Given the description of an element on the screen output the (x, y) to click on. 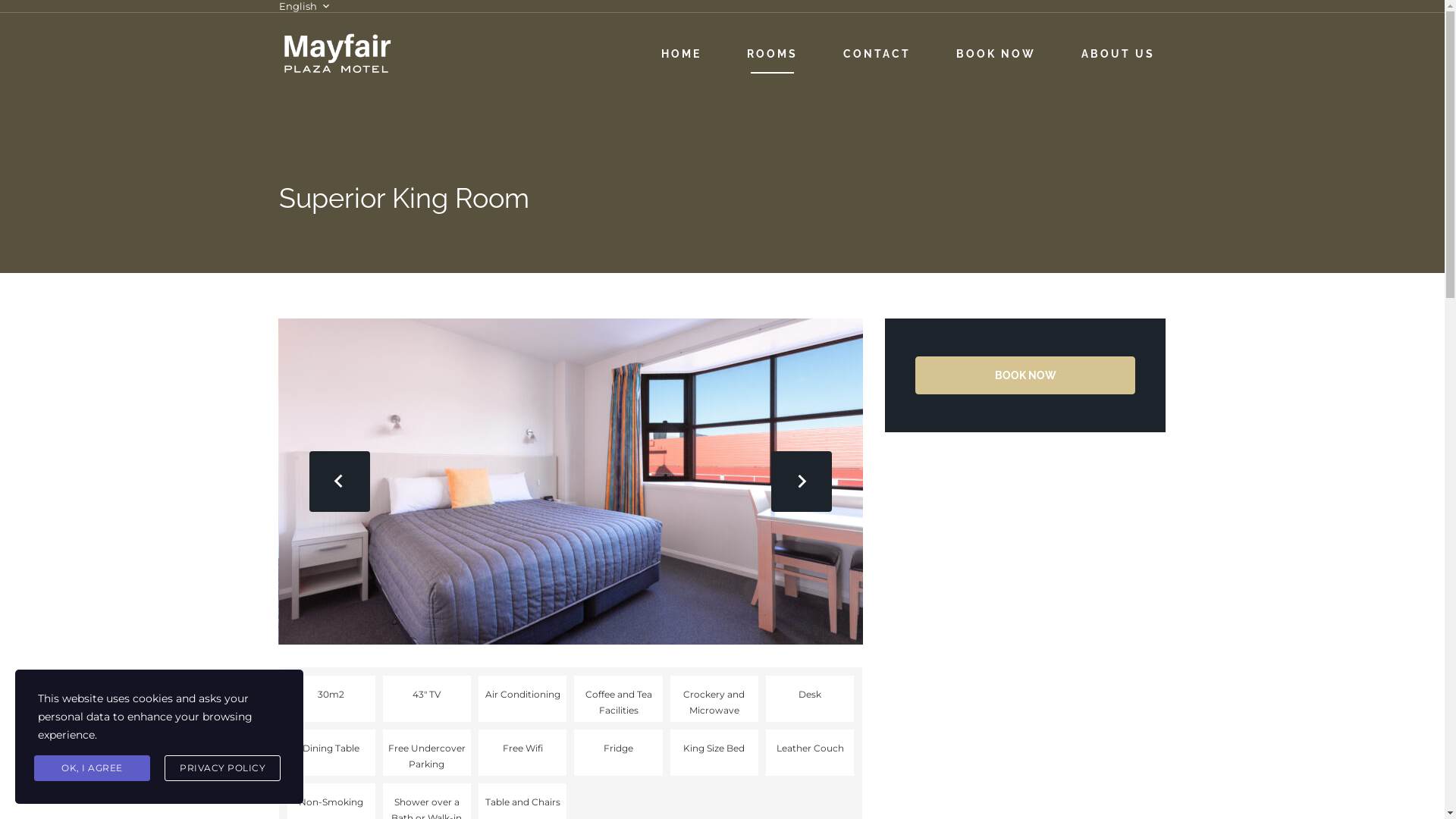
BOOK NOW Element type: text (994, 53)
CONTACT Element type: text (876, 53)
BOOK NOW Element type: text (1025, 375)
PRIVACY POLICY Element type: text (222, 768)
OK, I AGREE Element type: text (92, 768)
HOME Element type: text (681, 53)
ROOMS Element type: text (771, 53)
ABOUT US Element type: text (1117, 53)
